Given the description of an element on the screen output the (x, y) to click on. 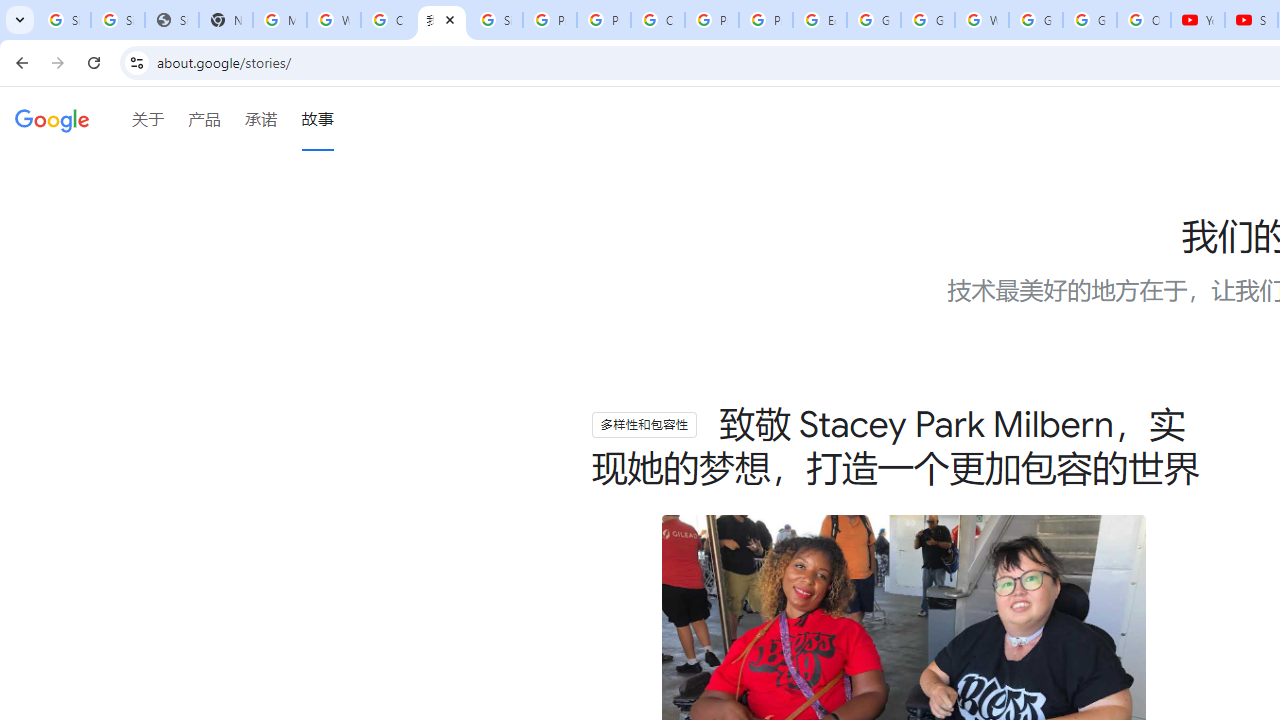
Sign In - USA TODAY (171, 20)
Create your Google Account (657, 20)
